Given the description of an element on the screen output the (x, y) to click on. 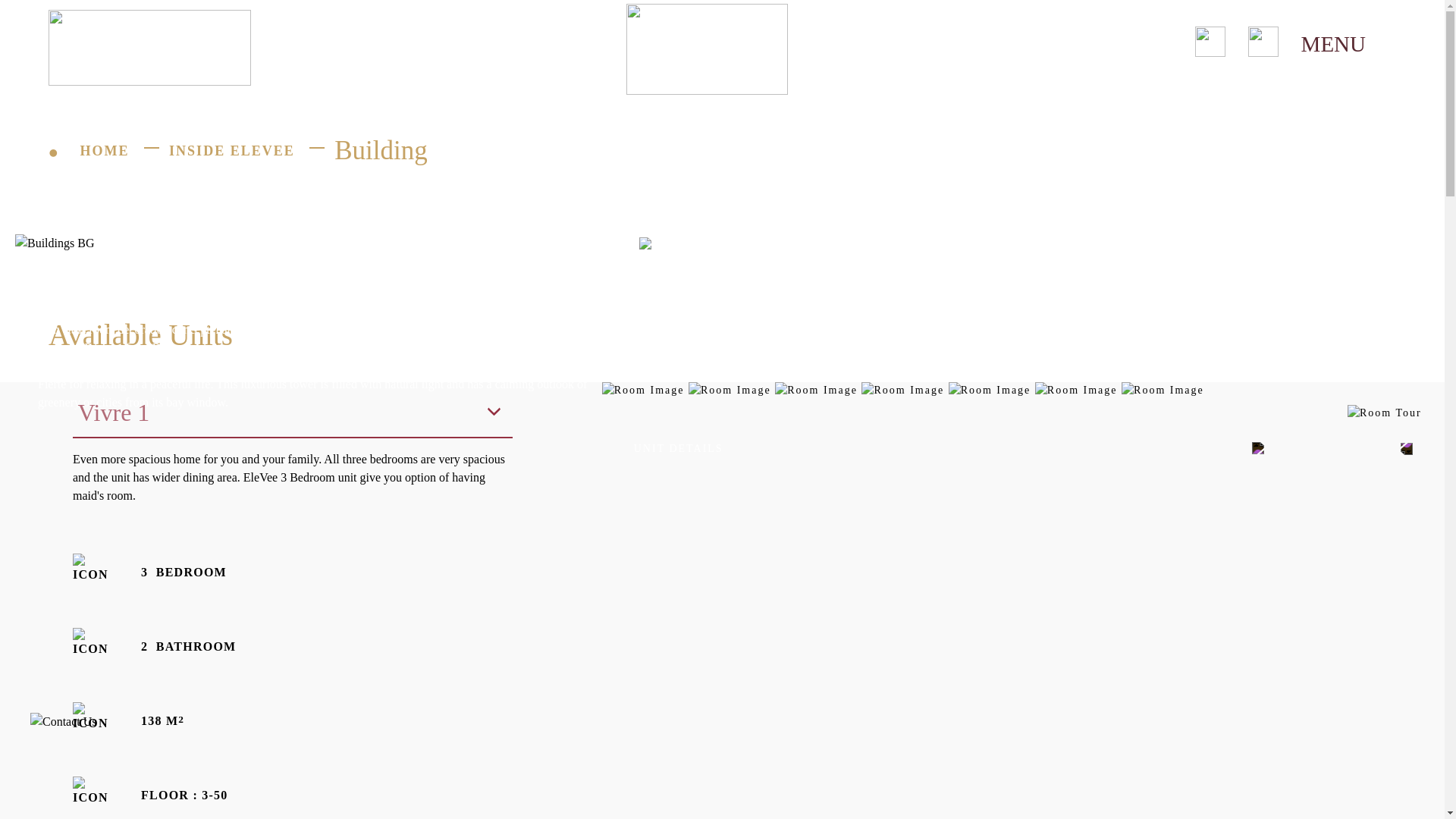
HOME (107, 150)
UNIT DETAILS (678, 448)
